Given the description of an element on the screen output the (x, y) to click on. 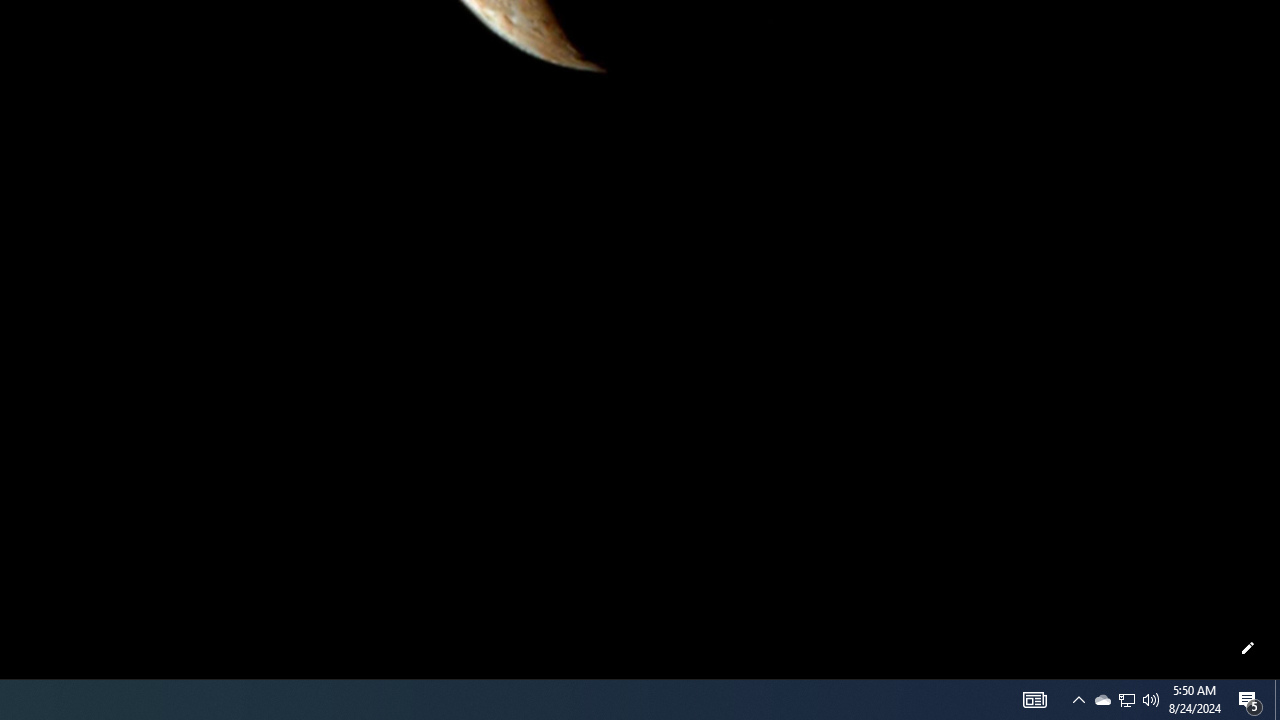
Customize this page (1247, 647)
